Given the description of an element on the screen output the (x, y) to click on. 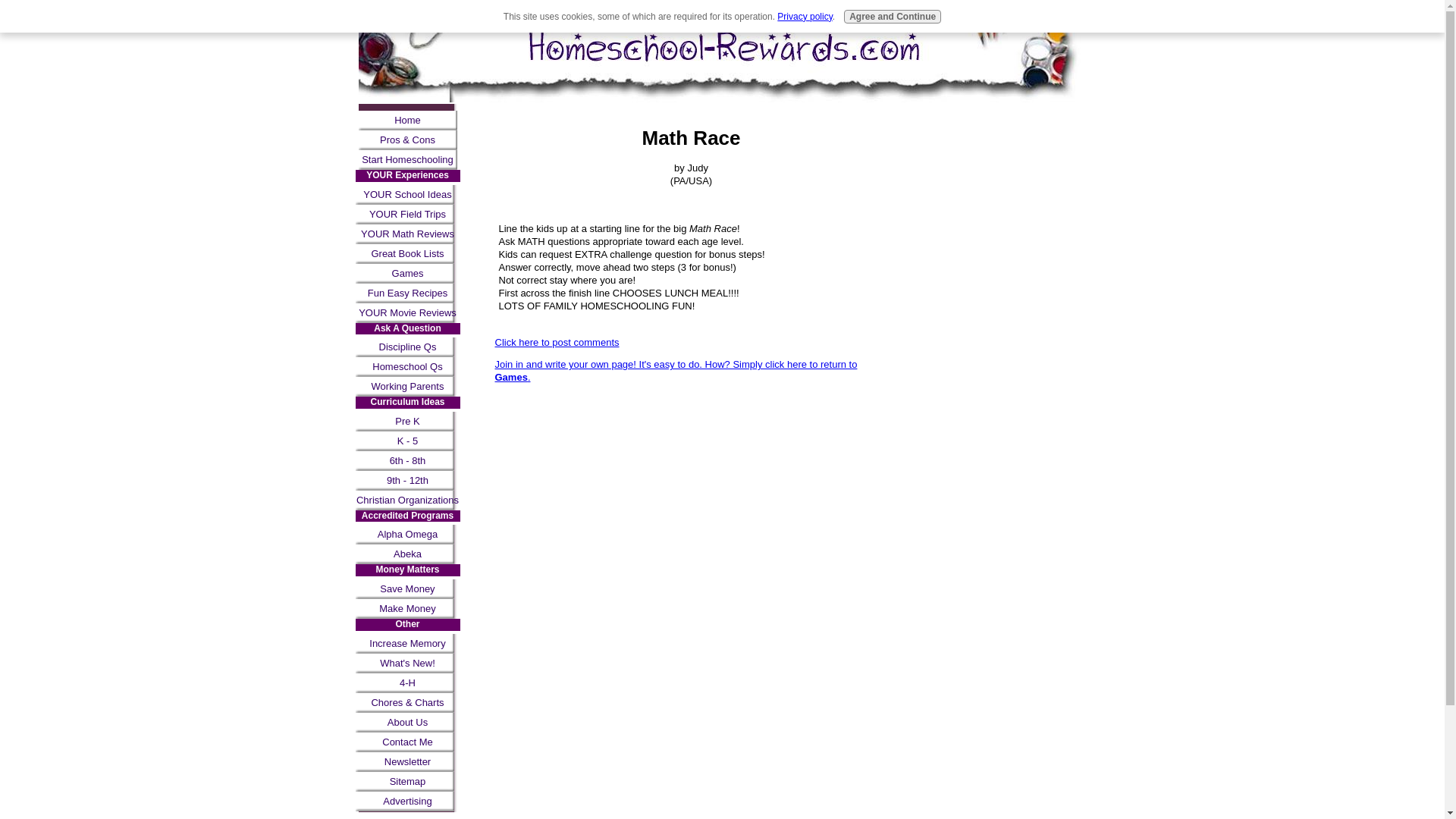
Home (407, 120)
4-H (407, 682)
Sitemap (407, 781)
Newsletter (407, 762)
Great Book Lists (407, 253)
Working Parents (407, 386)
YOUR Movie Reviews (407, 312)
Advertising (407, 801)
Fun Easy Recipes (407, 293)
Abeka (407, 554)
Increase Memory (407, 643)
YOUR Math Reviews (407, 234)
K - 5 (407, 441)
Privacy policy (804, 16)
Make Money (407, 608)
